Given the description of an element on the screen output the (x, y) to click on. 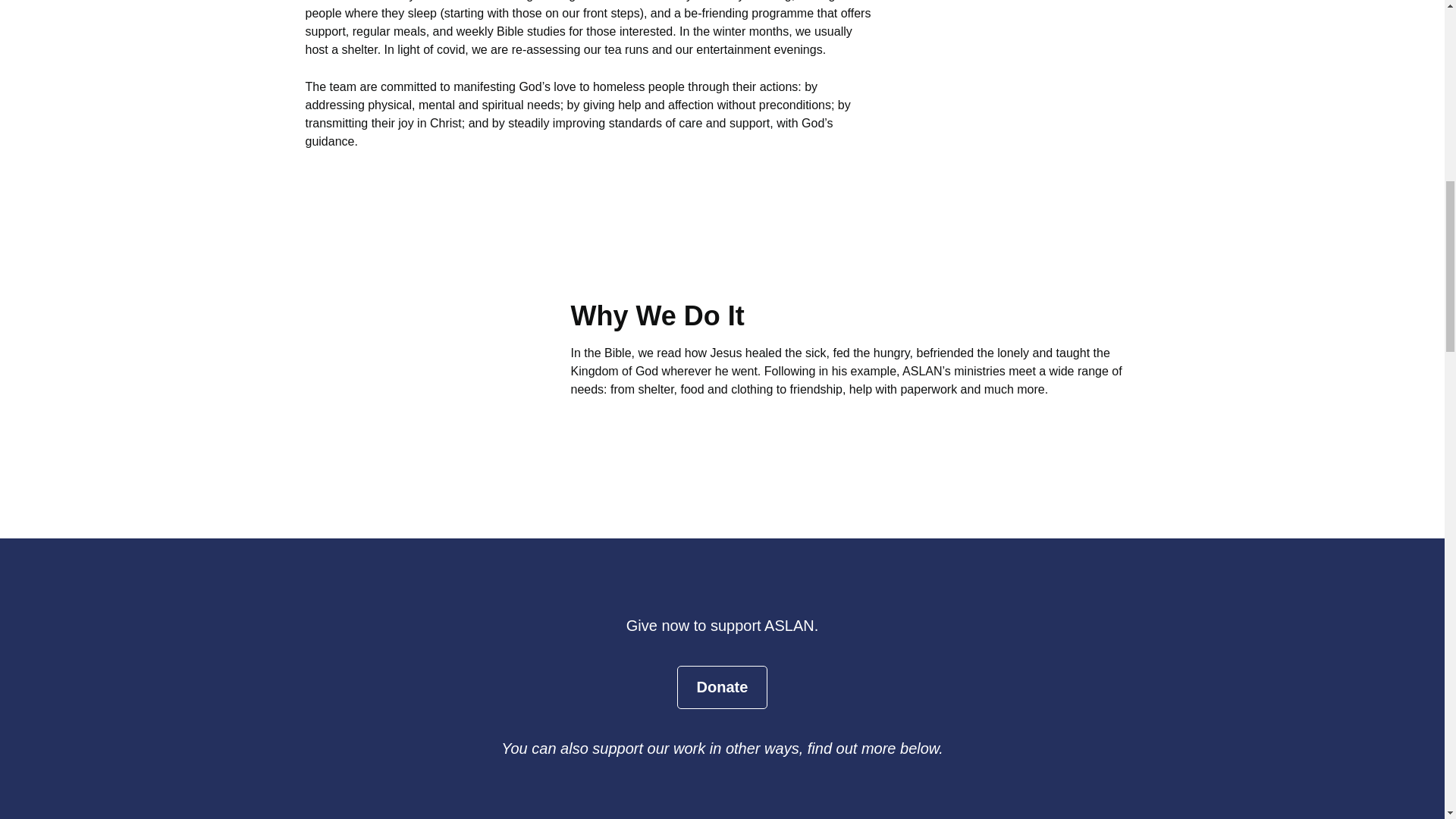
Donate (722, 687)
